Given the description of an element on the screen output the (x, y) to click on. 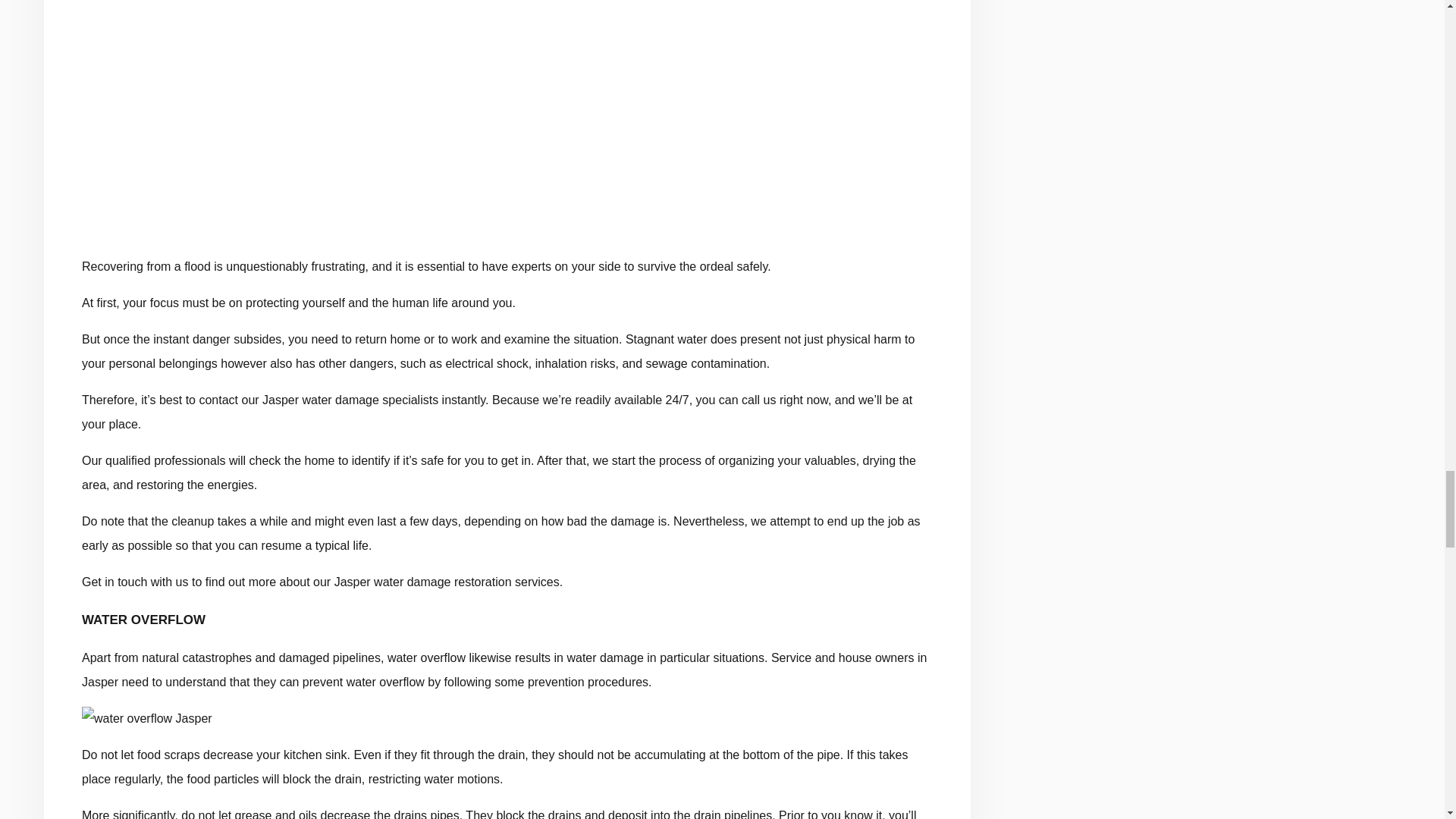
YouTube video player (507, 117)
